Given the description of an element on the screen output the (x, y) to click on. 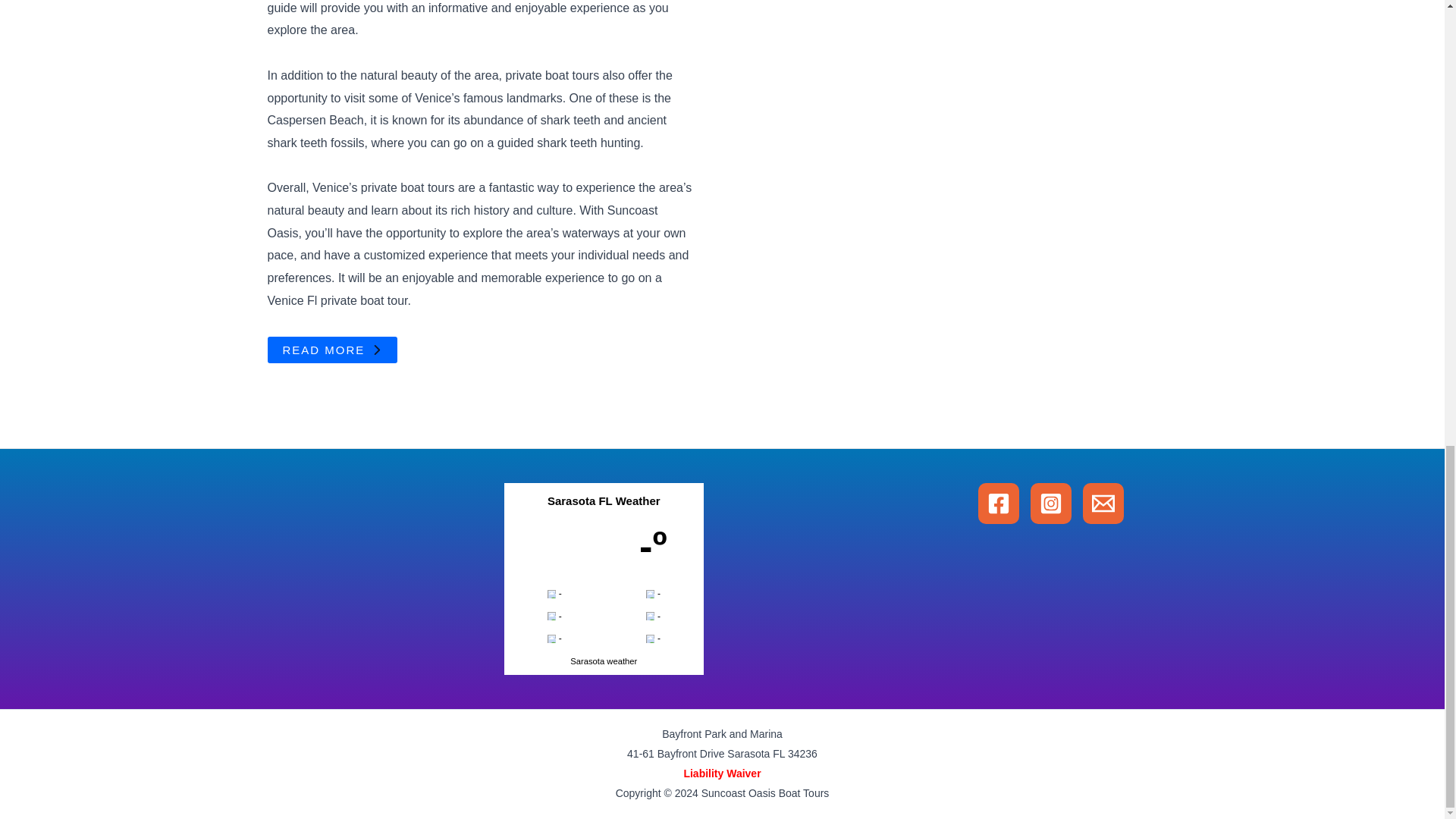
Liability Waiver (721, 773)
READ MORE (331, 349)
Sarasota weather (603, 660)
